Given the description of an element on the screen output the (x, y) to click on. 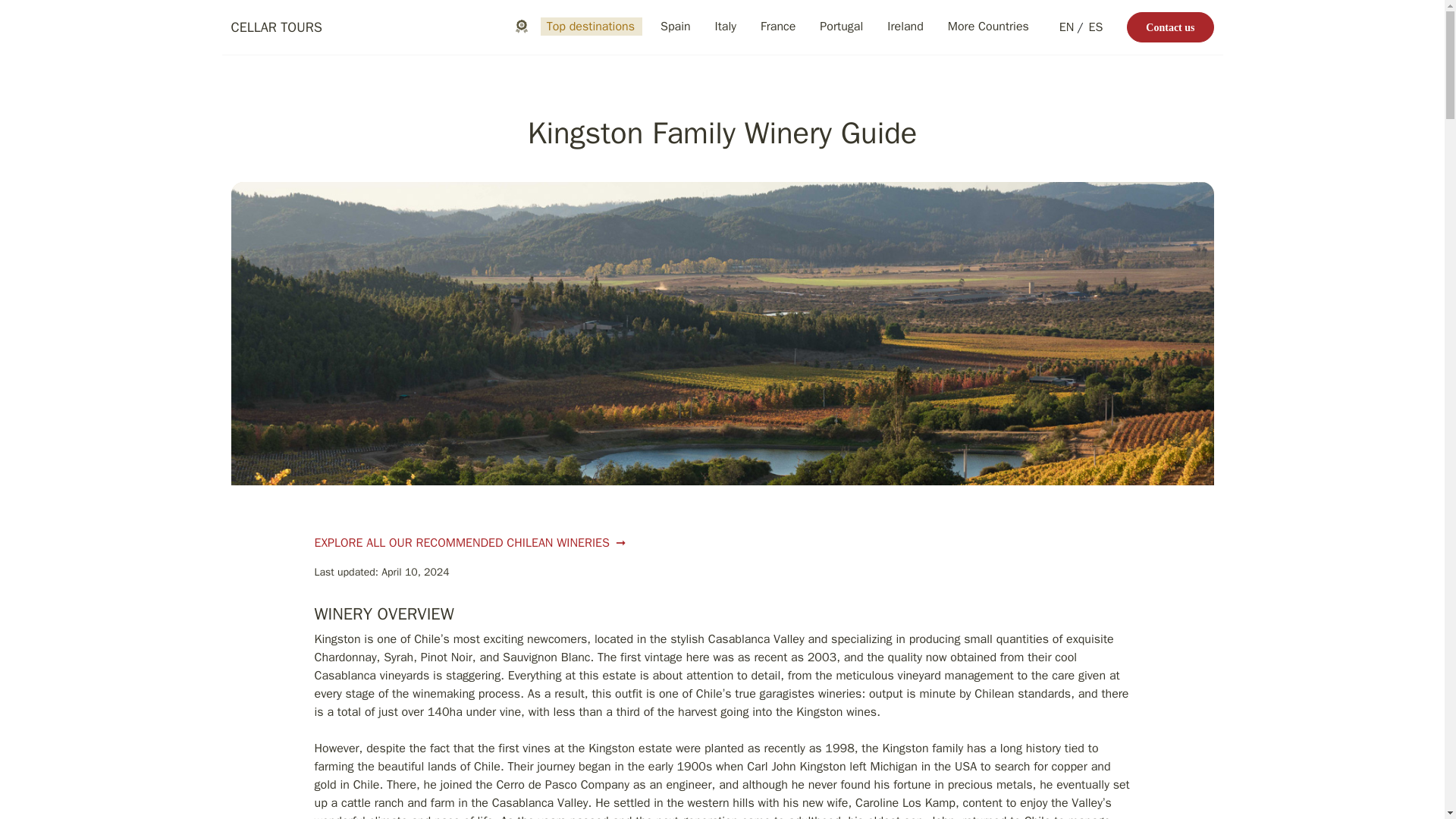
Portugal (841, 26)
French Wine Classifications (811, 20)
Ireland (905, 26)
France (778, 26)
CHECK OUT OUR LATEST BLOG POST! (433, 21)
Spain (675, 26)
Italy (725, 26)
CELLAR TOURS (275, 27)
Discover Spanish Wines: A Complete Gu... (999, 20)
Navigating French Wine Labels: Expert... (627, 21)
Top destinations (591, 26)
